Given the description of an element on the screen output the (x, y) to click on. 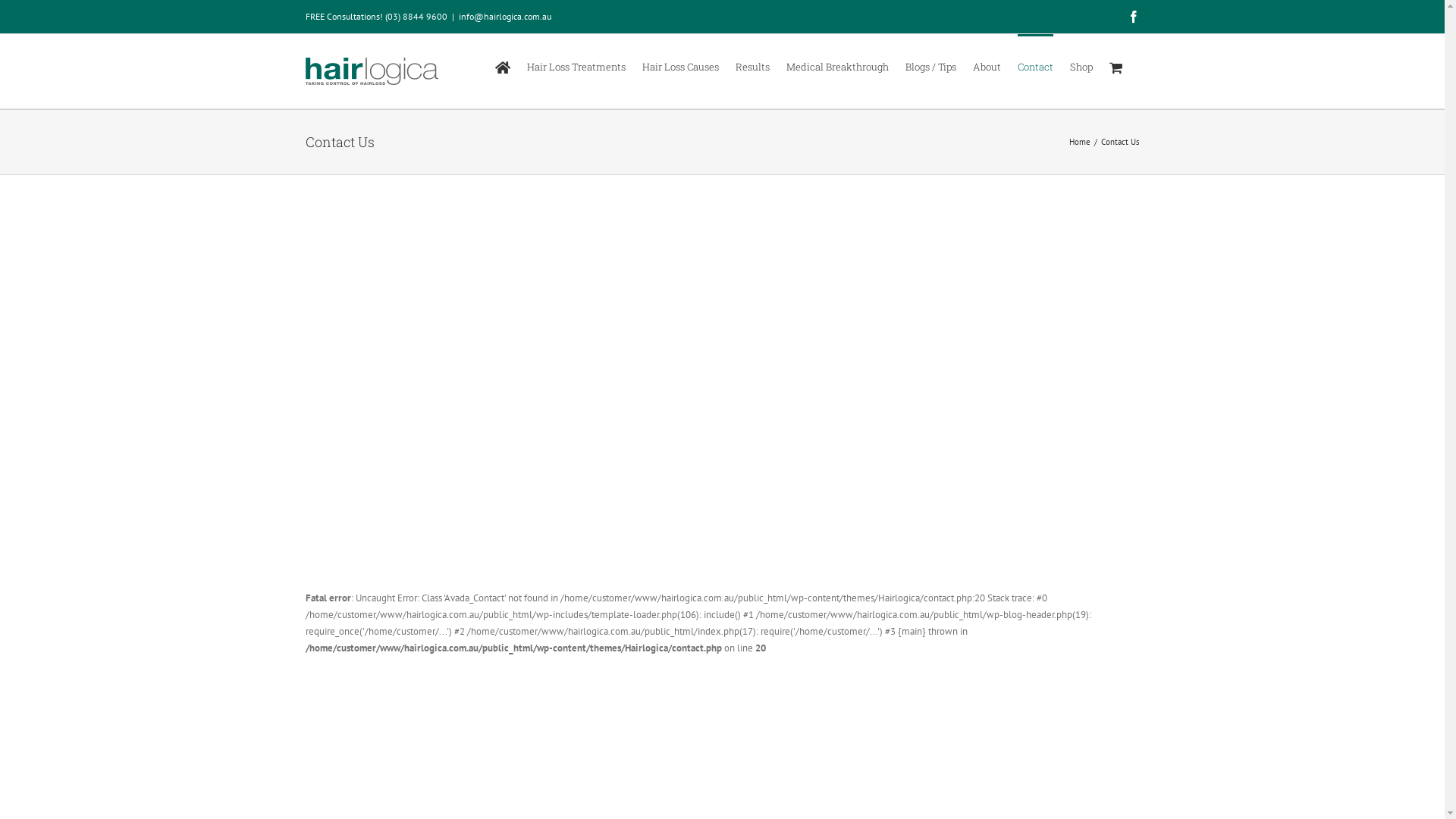
Contact Element type: text (1035, 65)
Hair Loss Treatments Element type: text (575, 65)
Medical Breakthrough Element type: text (836, 65)
About Element type: text (986, 65)
info@hairlogica.com.au Element type: text (504, 15)
Hair Loss Causes Element type: text (679, 65)
Blogs / Tips Element type: text (930, 65)
Facebook Element type: text (1132, 16)
(03) 8844 9600 Element type: text (416, 15)
Results Element type: text (752, 65)
Shop Element type: text (1080, 65)
Home Element type: text (1079, 141)
